Given the description of an element on the screen output the (x, y) to click on. 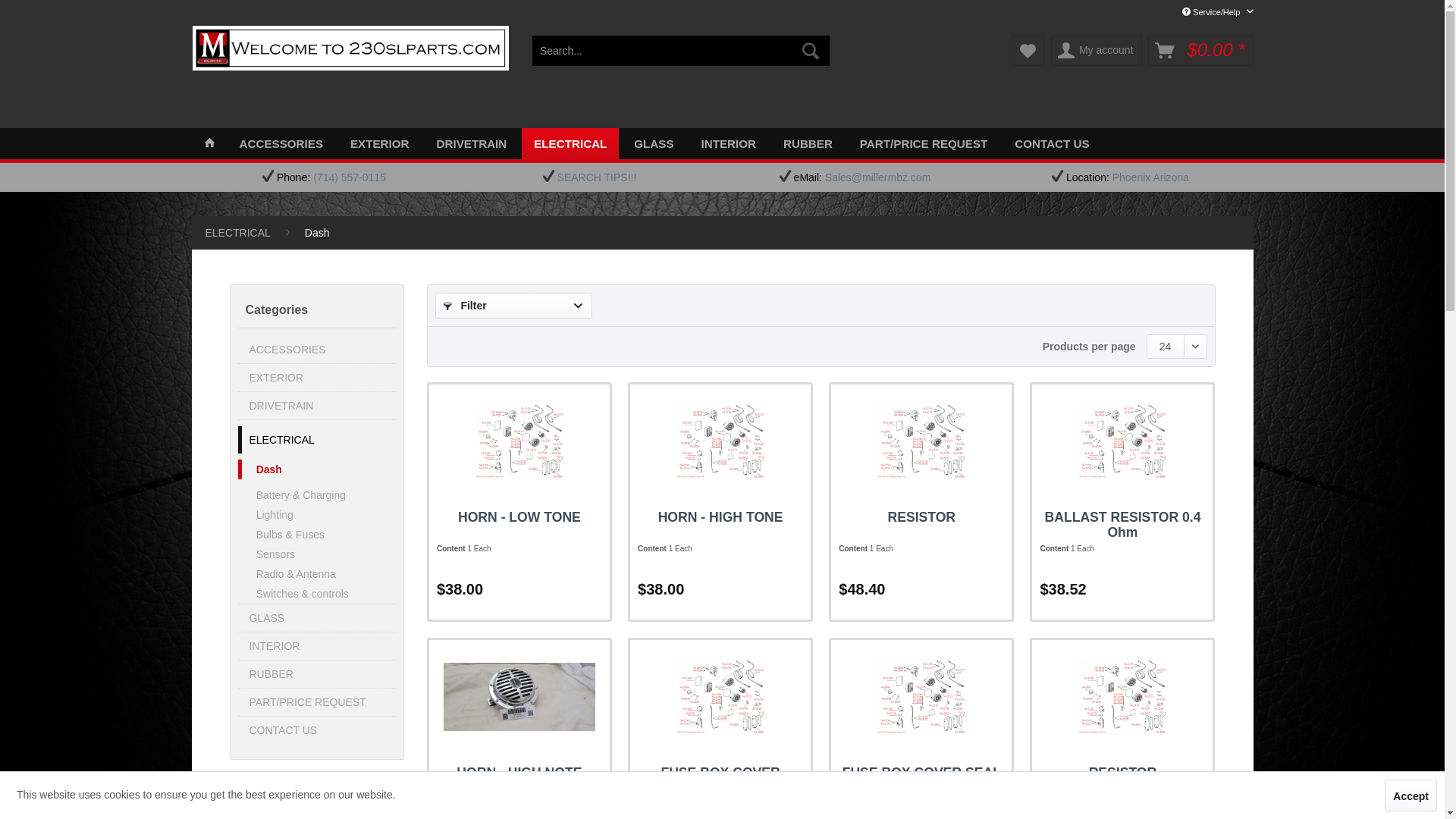
GLASS Element type: text (653, 143)
FUSE BOX COVER Element type: text (720, 780)
Lighting Element type: text (316, 514)
RESISTOR Element type: hover (1121, 696)
BALLAST RESISTOR 0.4 Ohm Element type: hover (1121, 440)
DRIVETRAIN Element type: text (316, 405)
$0.00 * Element type: text (1200, 50)
ELECTRICAL Element type: text (237, 232)
FUSE BOX COVER SEAL Element type: hover (921, 696)
Radio & Antenna Element type: text (316, 573)
HORN - HIGH NOTE Element type: text (519, 780)
HORN - LOW TONE Element type: text (519, 524)
HORN - HIGH NOTE Element type: hover (519, 696)
PART/PRICE REQUEST Element type: text (316, 701)
EXTERIOR Element type: text (316, 377)
BALLAST RESISTOR 0.4 Ohm Element type: hover (1121, 440)
DRIVETRAIN Element type: text (470, 143)
RUBBER Element type: text (316, 673)
HORN - HIGH TONE Element type: hover (720, 440)
Battery & Charging Element type: text (316, 495)
Wish list Element type: hover (1027, 50)
INTERIOR Element type: text (316, 645)
HORN - HIGH TONE Element type: hover (719, 440)
INTERIOR Element type: text (728, 143)
HORN - HIGH NOTE Element type: hover (519, 696)
Accept Element type: text (1410, 795)
RESISTOR Element type: hover (920, 440)
FUSE BOX COVER Element type: hover (720, 696)
PART/PRICE REQUEST Element type: text (923, 143)
Phoenix Arizona Element type: text (1150, 177)
Miller's Mercedes Benz 230sl parts - Switch to homepage Element type: hover (350, 68)
ACCESSORIES Element type: text (281, 143)
CONTACT US Element type: text (1051, 143)
FUSE BOX COVER SEAL Element type: text (921, 780)
RESISTOR Element type: text (1121, 780)
EXTERIOR Element type: text (379, 143)
Switches & controls Element type: text (316, 593)
My account Element type: text (1096, 50)
SEARCH TIPS!!! Element type: text (597, 177)
BALLAST RESISTOR 0.4 Ohm Element type: text (1121, 524)
ELECTRICAL Element type: text (316, 439)
RUBBER Element type: text (807, 143)
FUSE BOX COVER SEAL Element type: hover (920, 696)
CONTACT US Element type: text (316, 729)
RESISTOR Element type: hover (921, 440)
ACCESSORIES Element type: text (316, 349)
RESISTOR Element type: hover (1121, 696)
(714) 557-0115 Element type: text (349, 177)
Dash Element type: text (316, 469)
HORN - LOW TONE Element type: hover (519, 440)
Home Element type: hover (208, 143)
HORN - LOW TONE Element type: hover (518, 440)
Sales@millermbz.com Element type: text (877, 177)
FUSE BOX COVER Element type: hover (719, 696)
Filter Element type: text (514, 305)
ELECTRICAL Element type: text (569, 143)
Sensors Element type: text (316, 554)
RESISTOR Element type: text (921, 524)
Bulbs & Fuses Element type: text (316, 534)
GLASS Element type: text (316, 617)
Dash Element type: text (317, 232)
HORN - HIGH TONE Element type: text (720, 524)
